Given the description of an element on the screen output the (x, y) to click on. 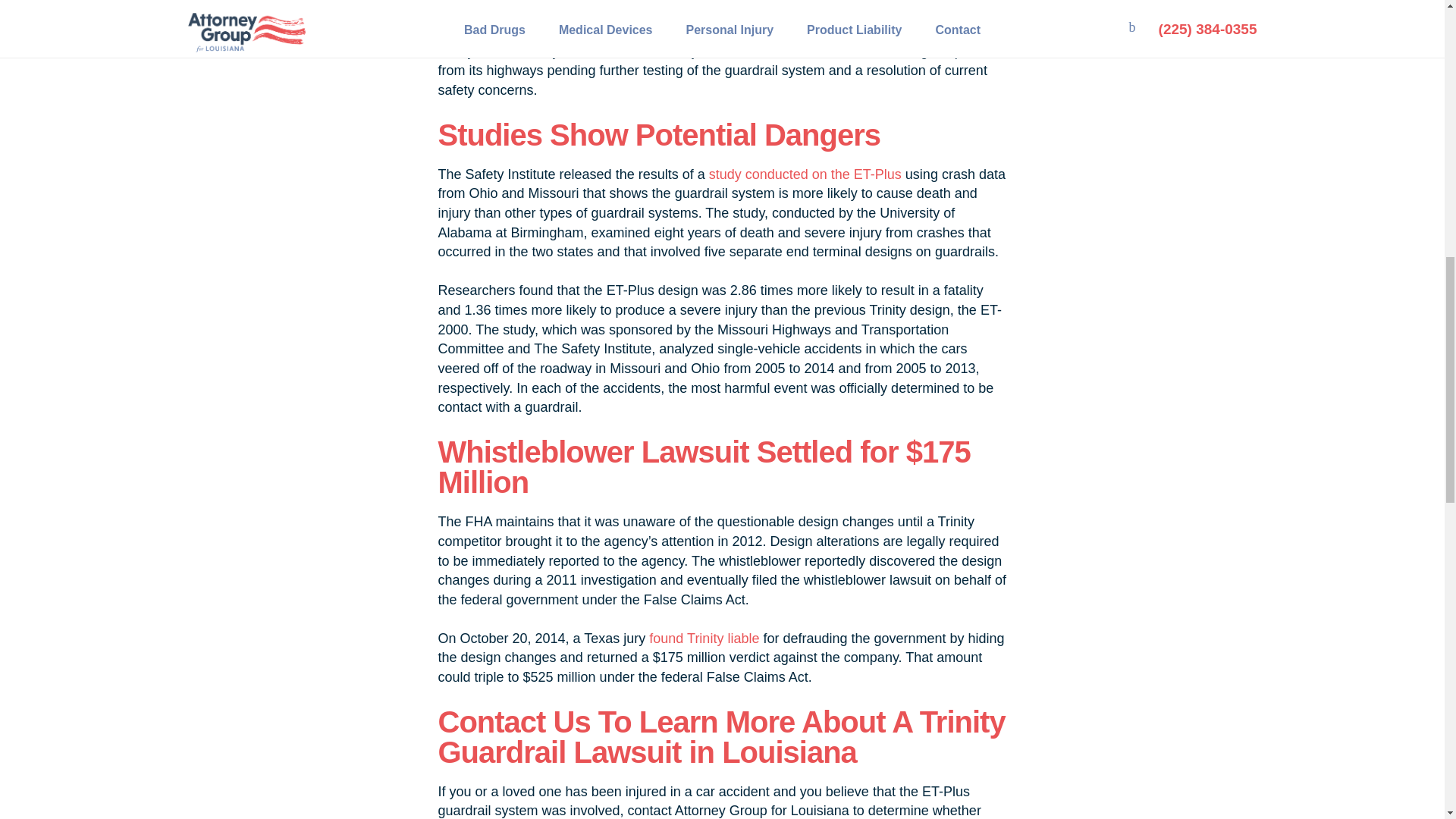
found Trinity liable (703, 638)
study conducted on the ET-Plus (805, 174)
